Given the description of an element on the screen output the (x, y) to click on. 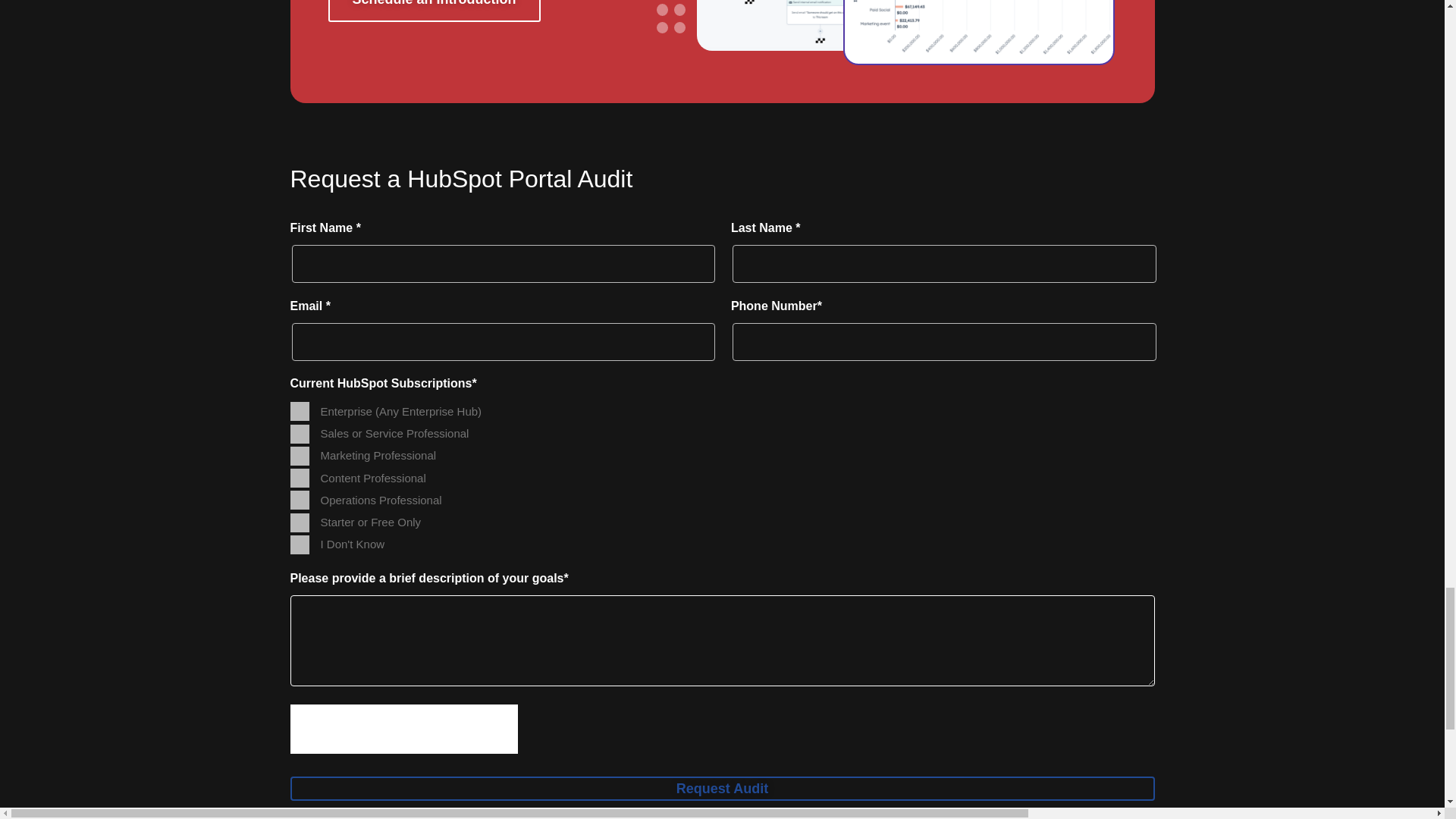
Marketing Professional (298, 456)
I Don't Know (298, 544)
Request Audit (721, 788)
Sales or Service Professional (298, 434)
Operations Professional (298, 499)
Starter or Free Only (298, 521)
Content Professional (298, 477)
